Given the description of an element on the screen output the (x, y) to click on. 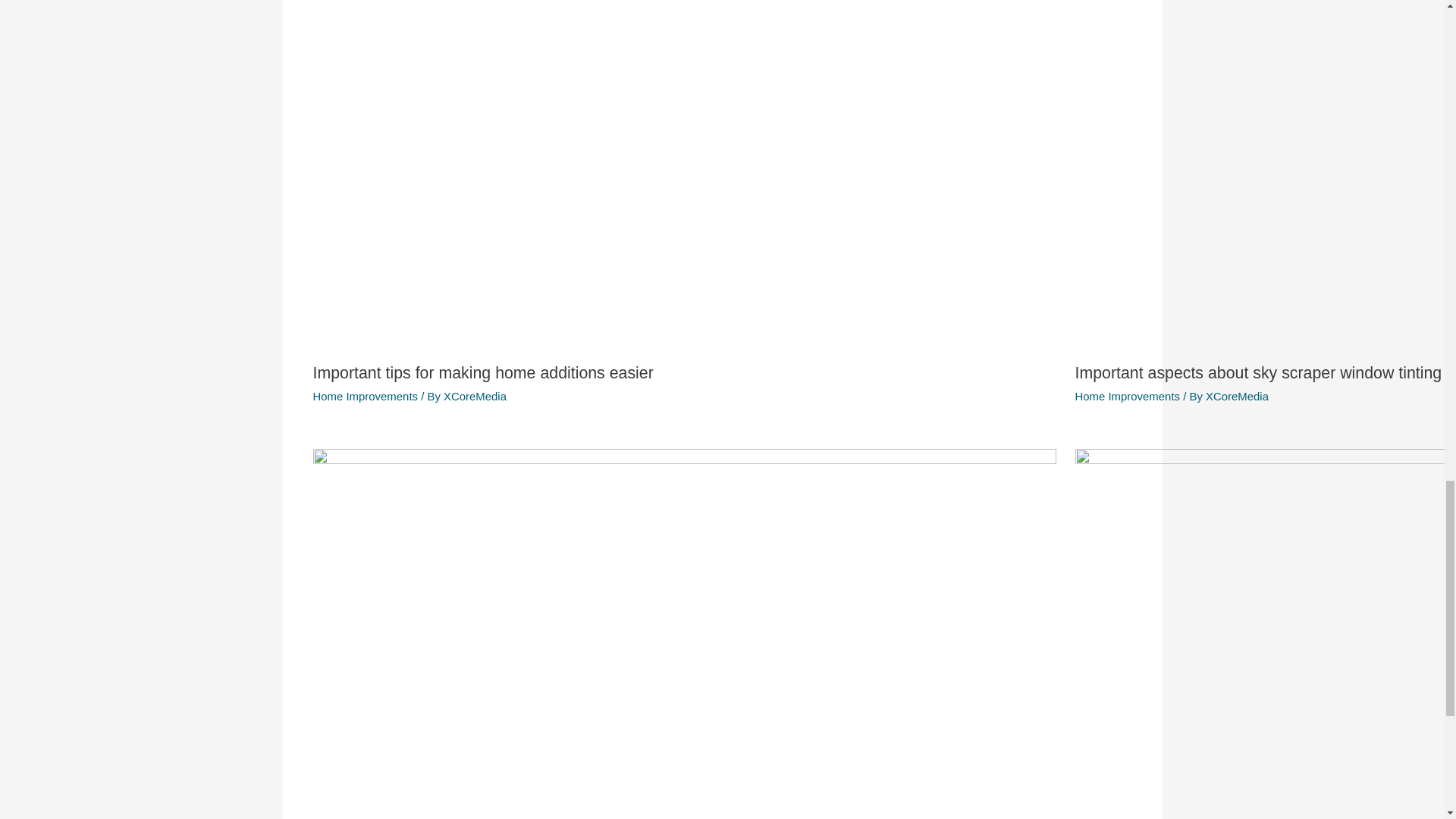
View all posts by XCoreMedia (475, 395)
View all posts by XCoreMedia (1236, 395)
